Given the description of an element on the screen output the (x, y) to click on. 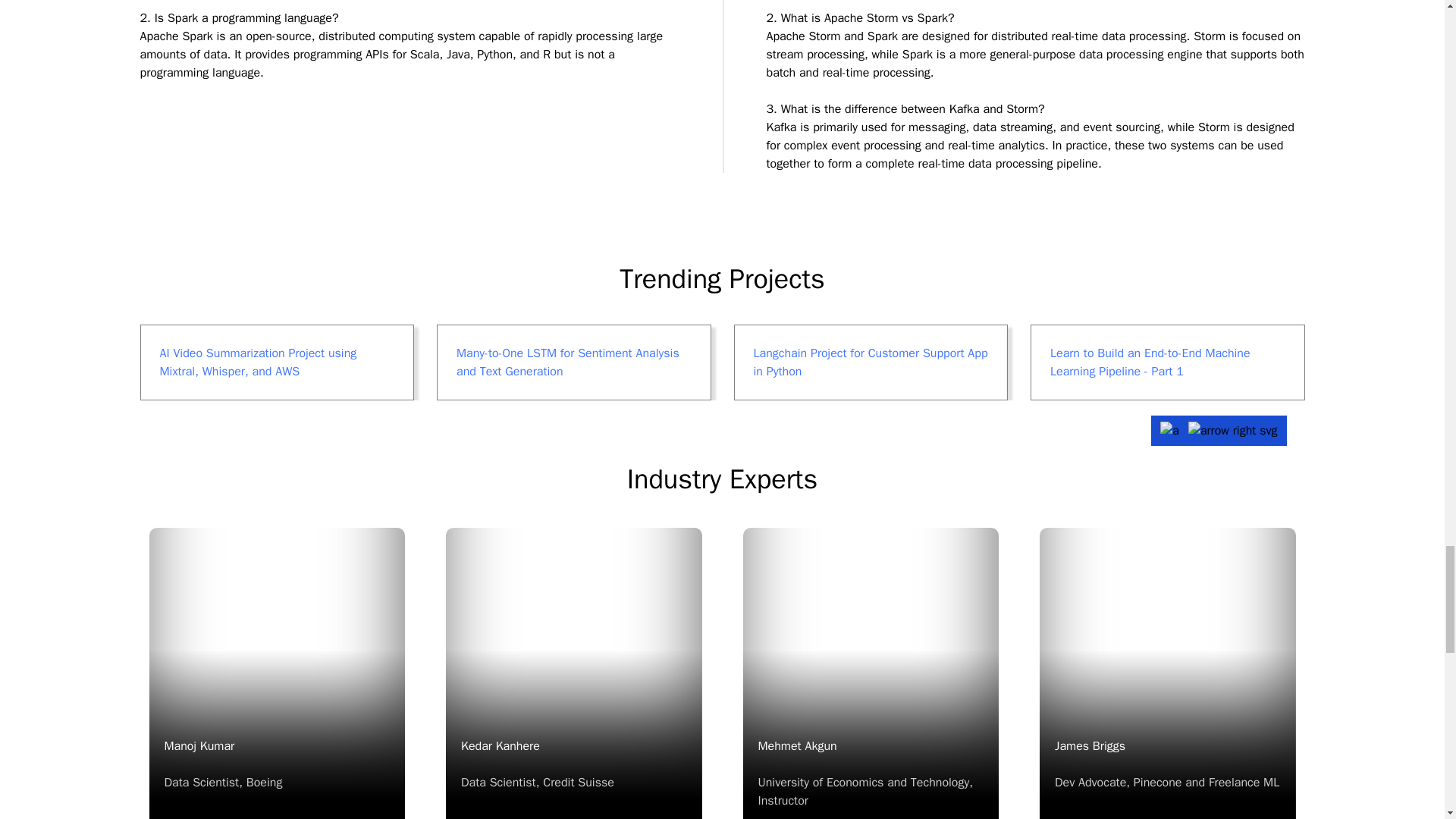
Many-to-One LSTM for Sentiment Analysis and Text Generation (574, 361)
Many-to-One LSTM for Sentiment Analysis and Text Generation (276, 673)
Langchain Project for Customer Support App in Python (573, 673)
Langchain Project for Customer Support App in Python (574, 361)
